Given the description of an element on the screen output the (x, y) to click on. 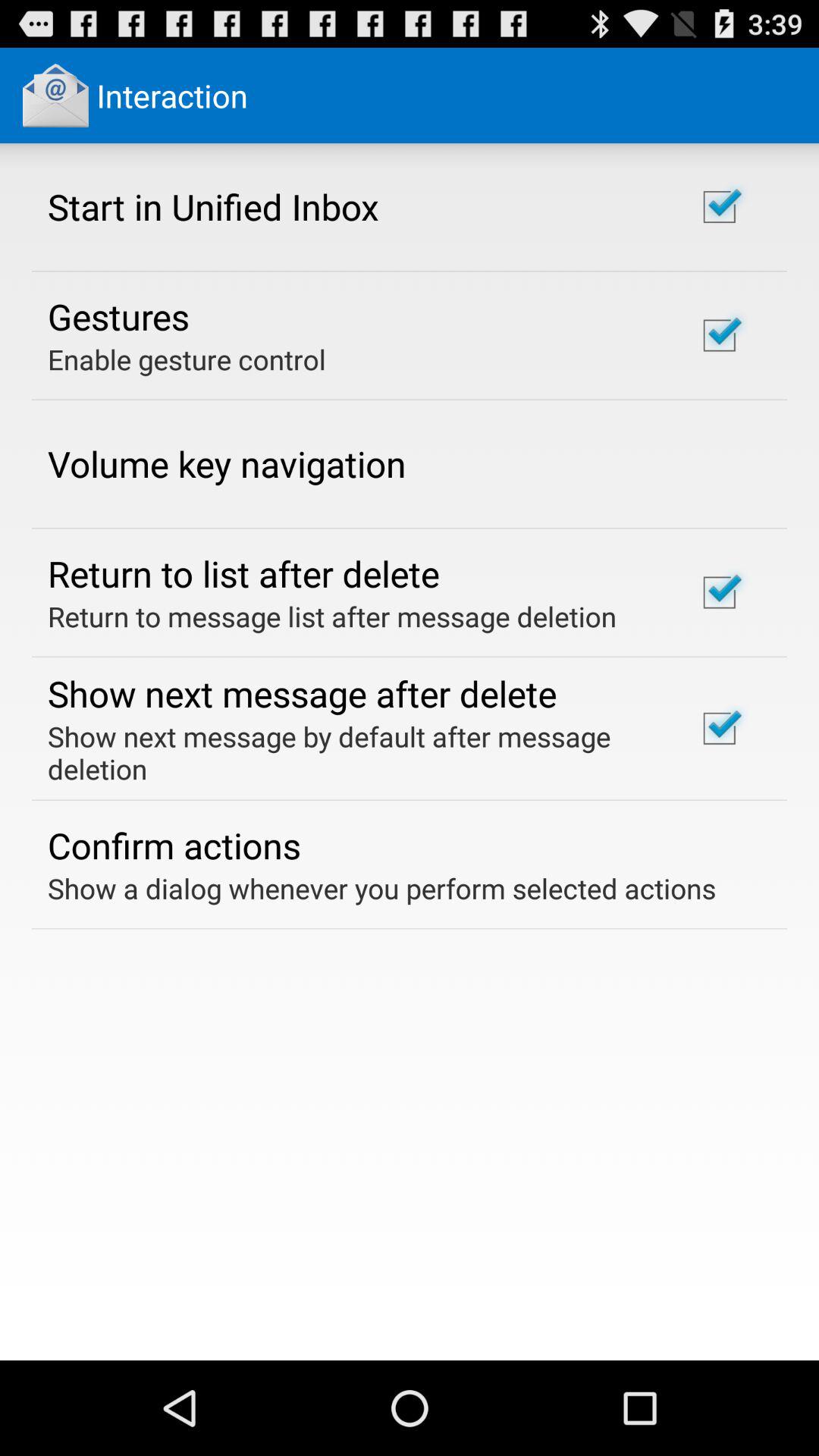
turn off the item above the return to list icon (226, 463)
